Given the description of an element on the screen output the (x, y) to click on. 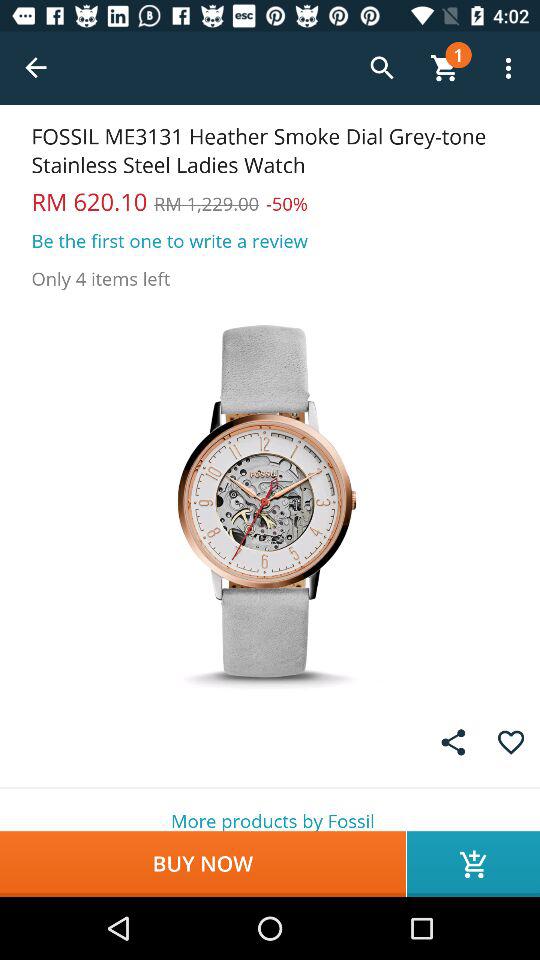
launch more products by icon (270, 809)
